Given the description of an element on the screen output the (x, y) to click on. 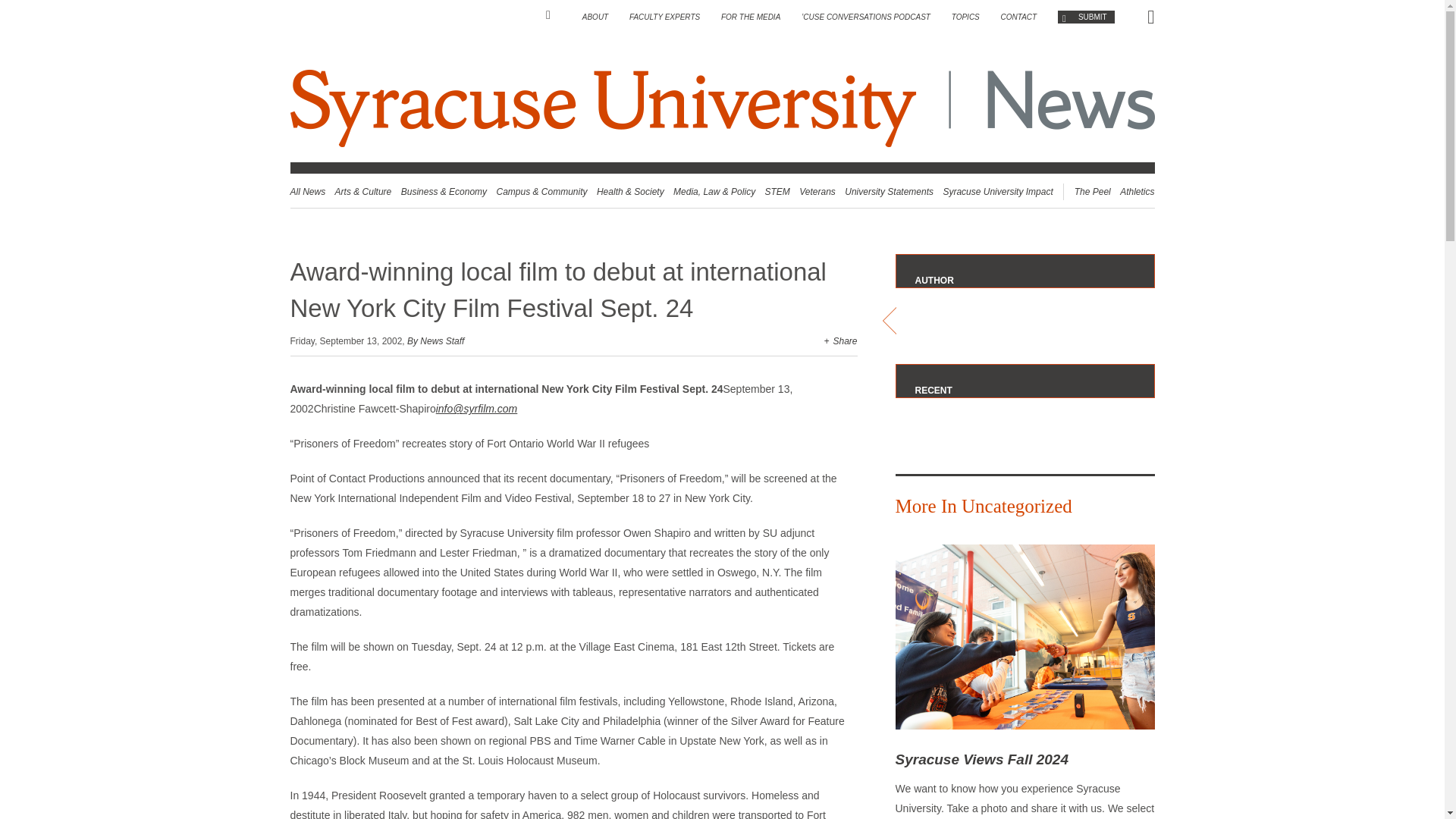
Faculty Experts (664, 17)
HOME (553, 15)
CONTACT (1018, 17)
Veterans (817, 191)
Syracuse University News (721, 108)
Submit (1086, 16)
Contact (1018, 17)
For The Media (750, 17)
FACULTY EXPERTS (664, 17)
Topics (965, 17)
